Given the description of an element on the screen output the (x, y) to click on. 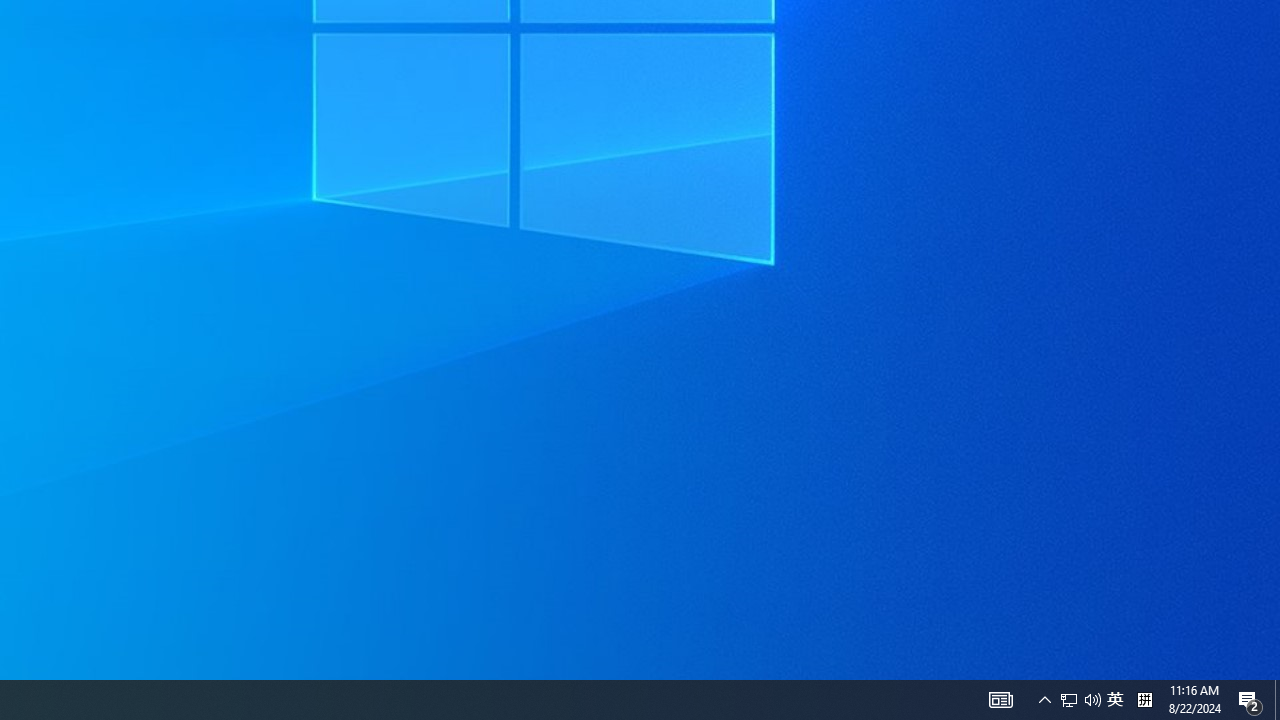
Notification Chevron (1044, 699)
Tray Input Indicator - Chinese (Simplified, China) (1144, 699)
User Promoted Notification Area (1069, 699)
Action Center, 2 new notifications (1115, 699)
AutomationID: 4105 (1080, 699)
Show desktop (1250, 699)
Q2790: 100% (1000, 699)
